Given the description of an element on the screen output the (x, y) to click on. 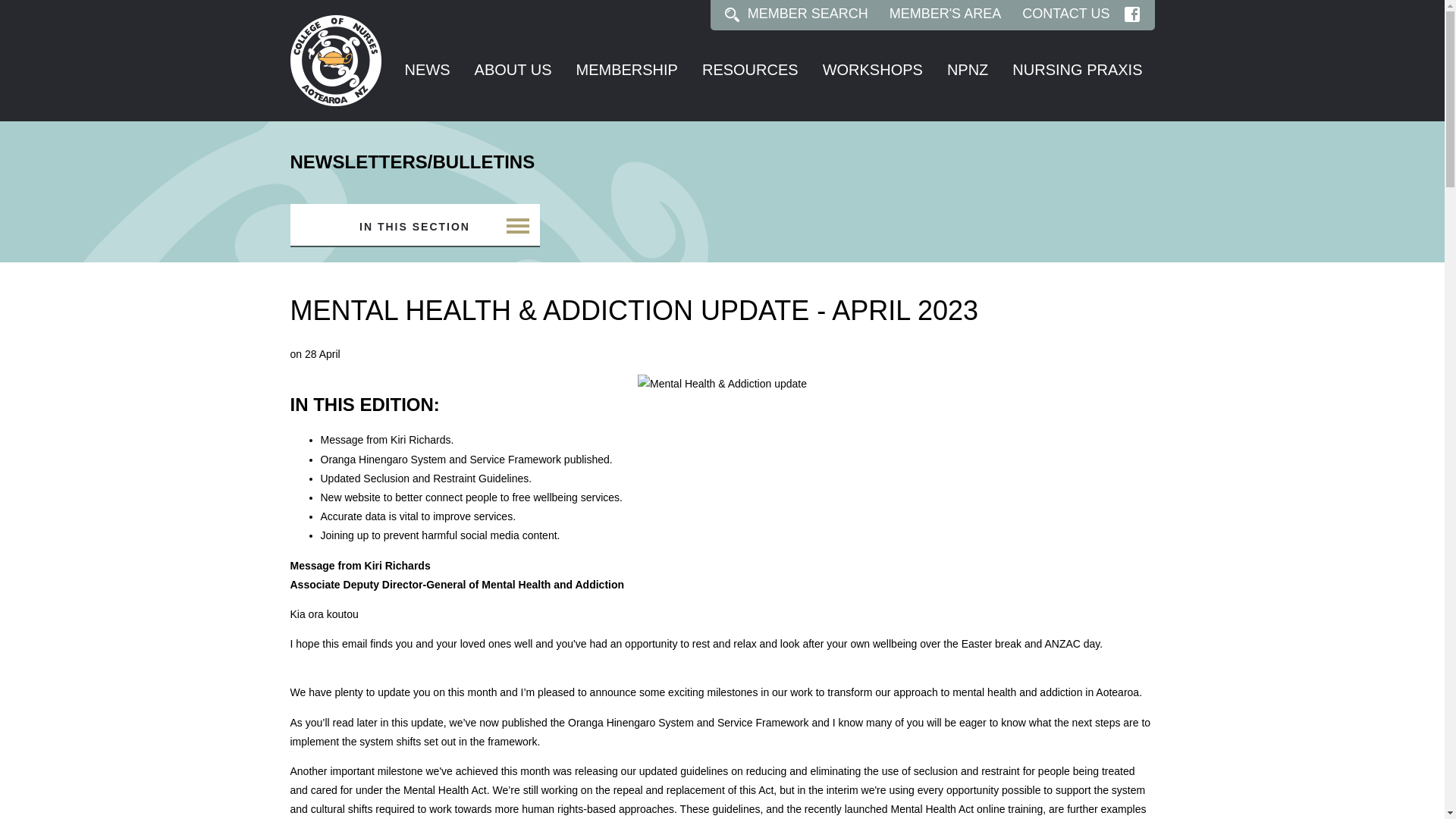
Facebook (1131, 14)
Search (732, 14)
MEMBERSHIP (626, 71)
NEWS (426, 71)
MEMBER SEARCH (807, 13)
About Us (512, 71)
MEMBER'S AREA (945, 13)
CONTACT US (1065, 13)
News (426, 71)
ABOUT US (512, 71)
